Given the description of an element on the screen output the (x, y) to click on. 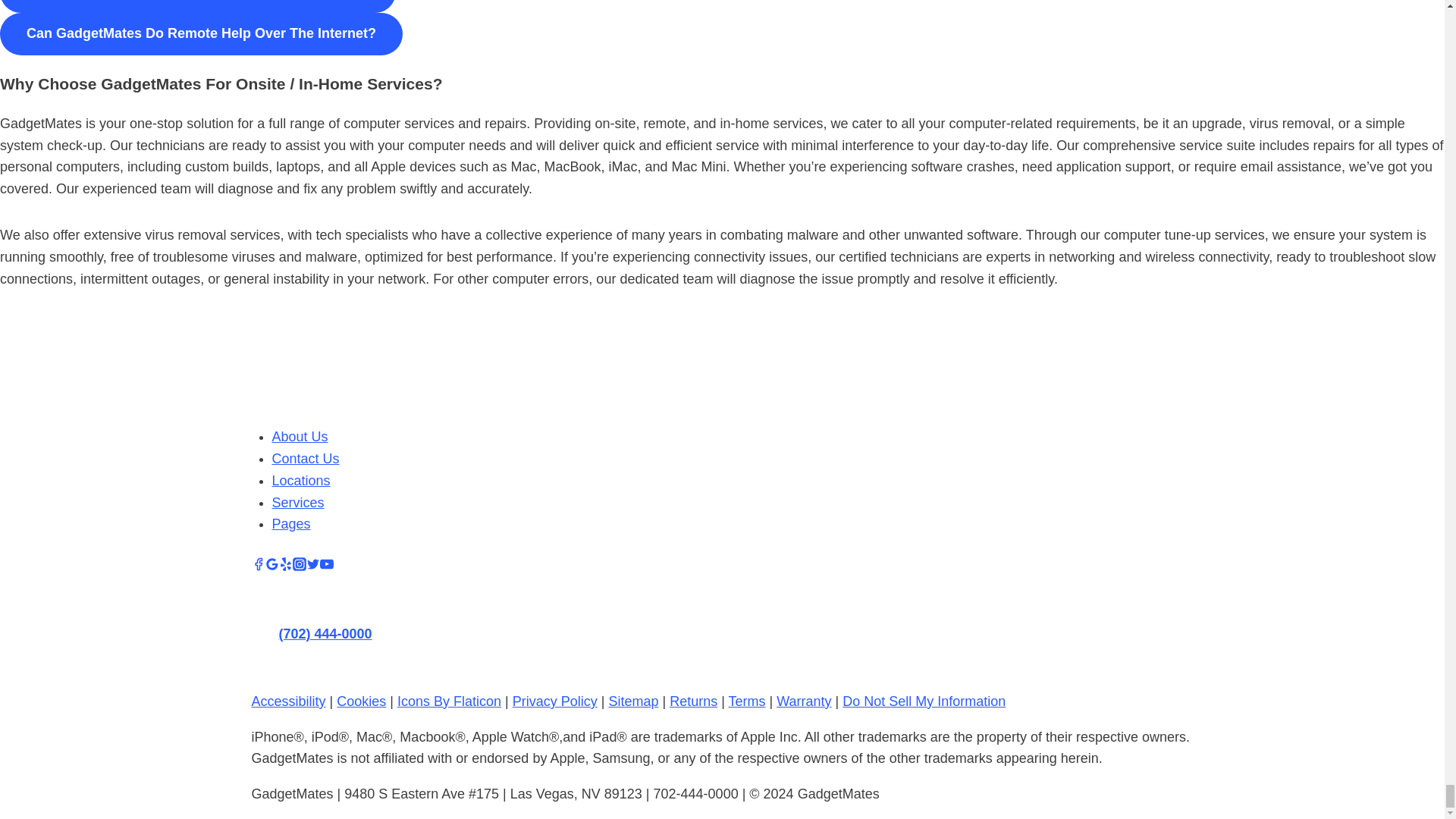
How Can I Prepare For An On-Site Computer Repair? (198, 6)
About Us (298, 436)
Contact Us (304, 458)
Can GadgetMates Do Remote Help Over The Internet? (201, 34)
GadgetMates Footer Logo (477, 357)
